Given the description of an element on the screen output the (x, y) to click on. 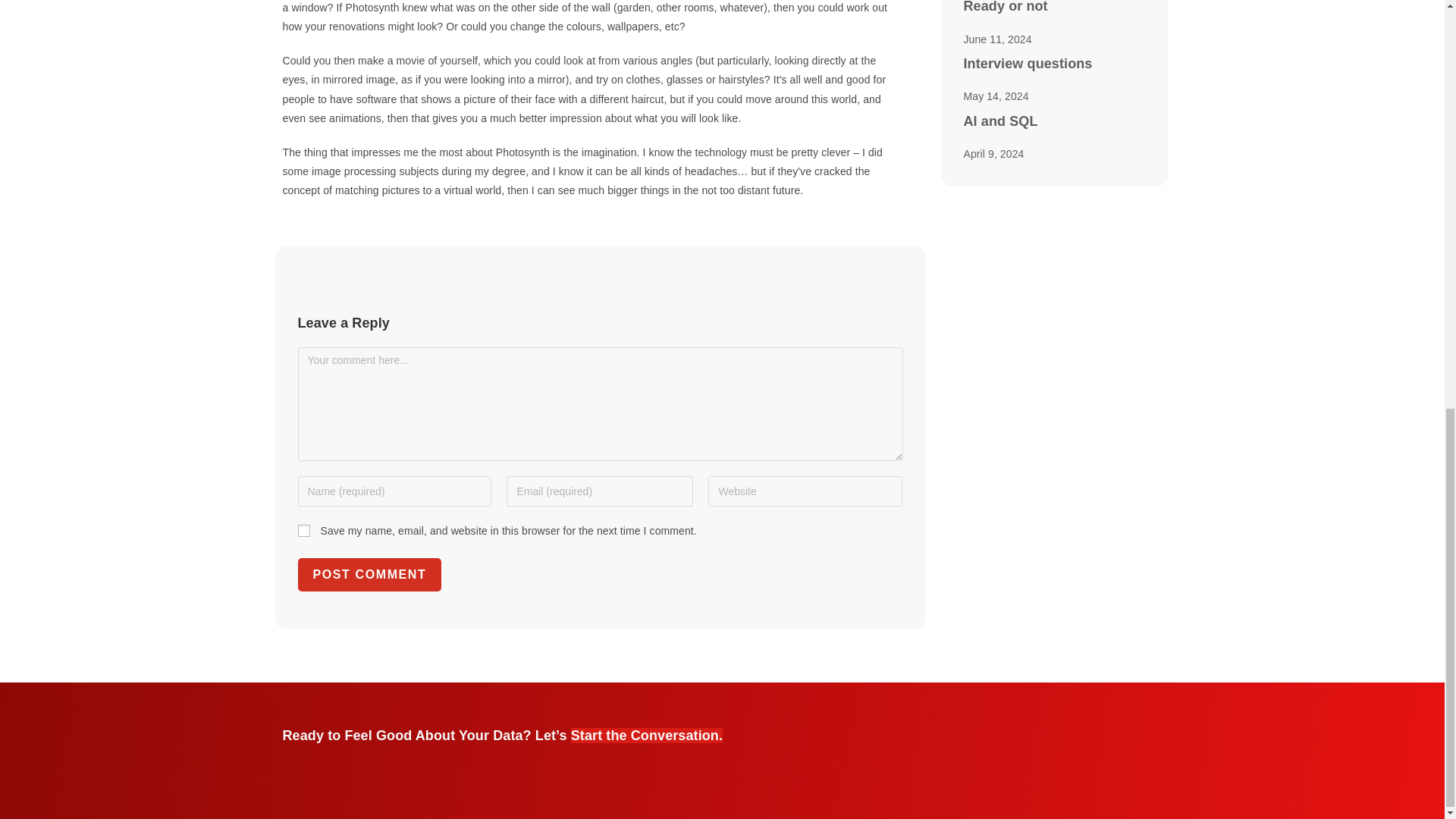
yes (302, 530)
Post Comment (369, 574)
Ready or not (1004, 6)
AI and SQL (999, 120)
Post Comment (369, 574)
Interview questions (1027, 63)
